Given the description of an element on the screen output the (x, y) to click on. 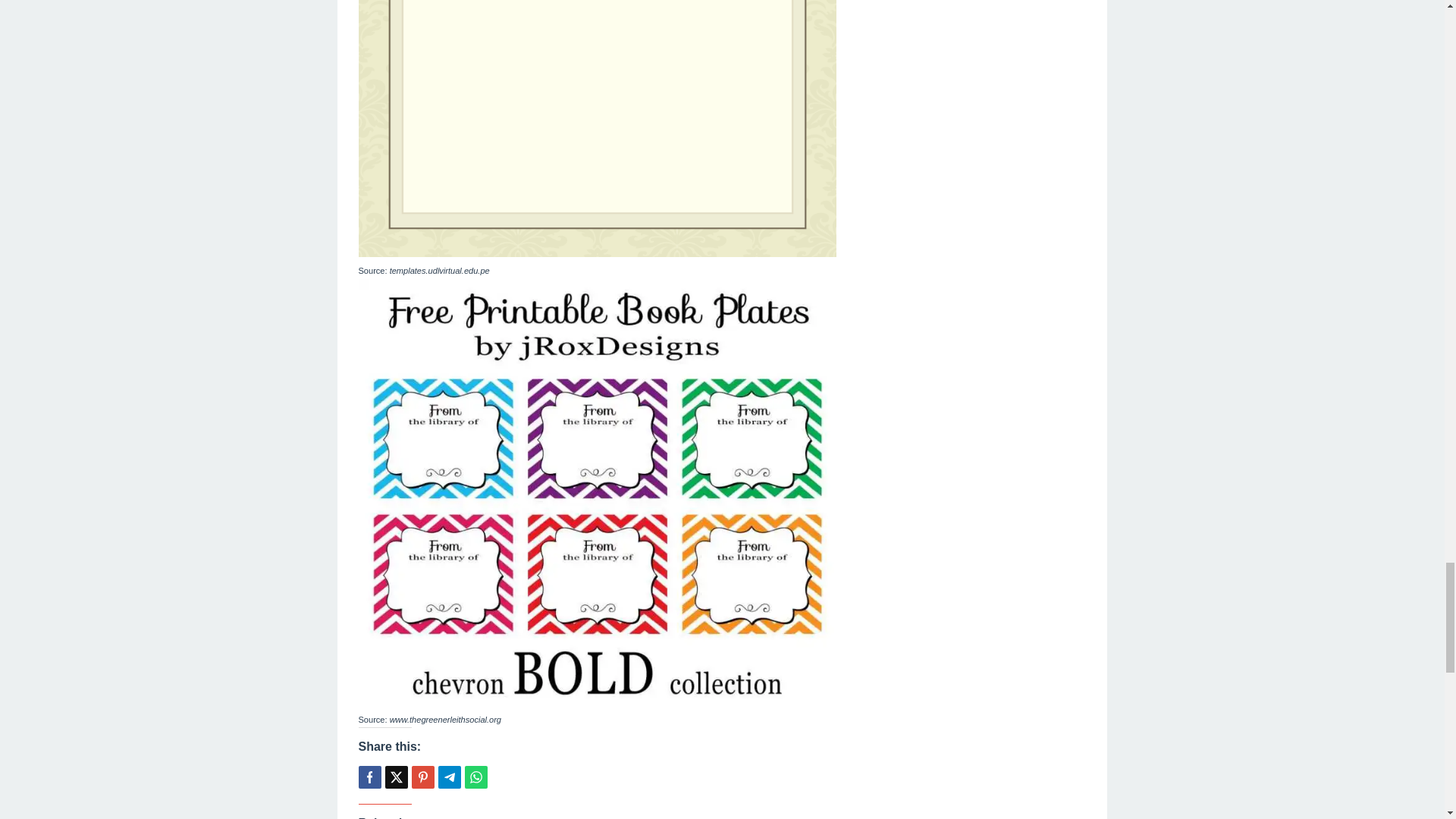
Tweet this (396, 776)
Pin this (421, 776)
Telegram Share (449, 776)
Whatsapp (475, 776)
Share this (369, 776)
